Given the description of an element on the screen output the (x, y) to click on. 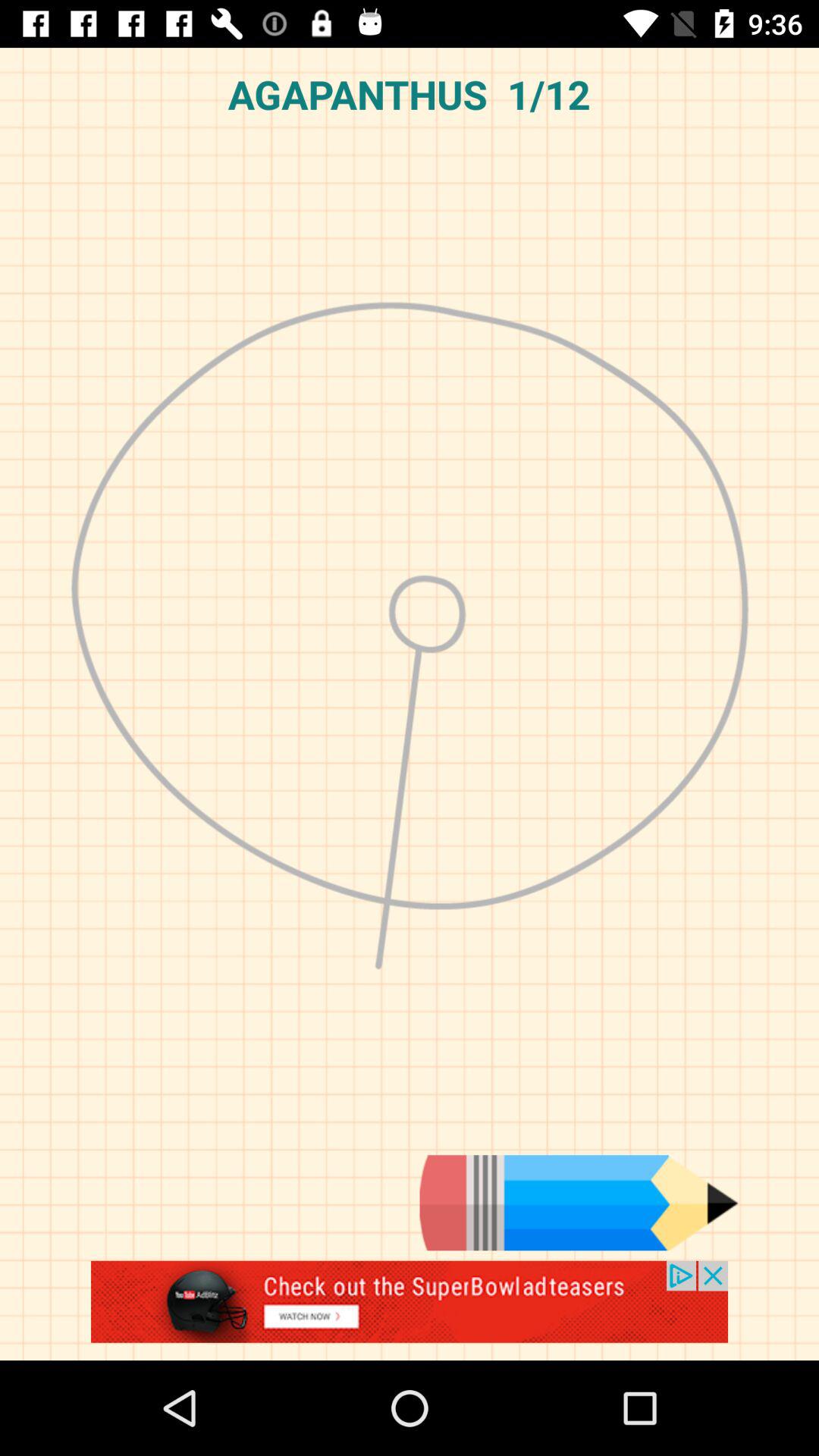
know about the advertisement (409, 1310)
